Given the description of an element on the screen output the (x, y) to click on. 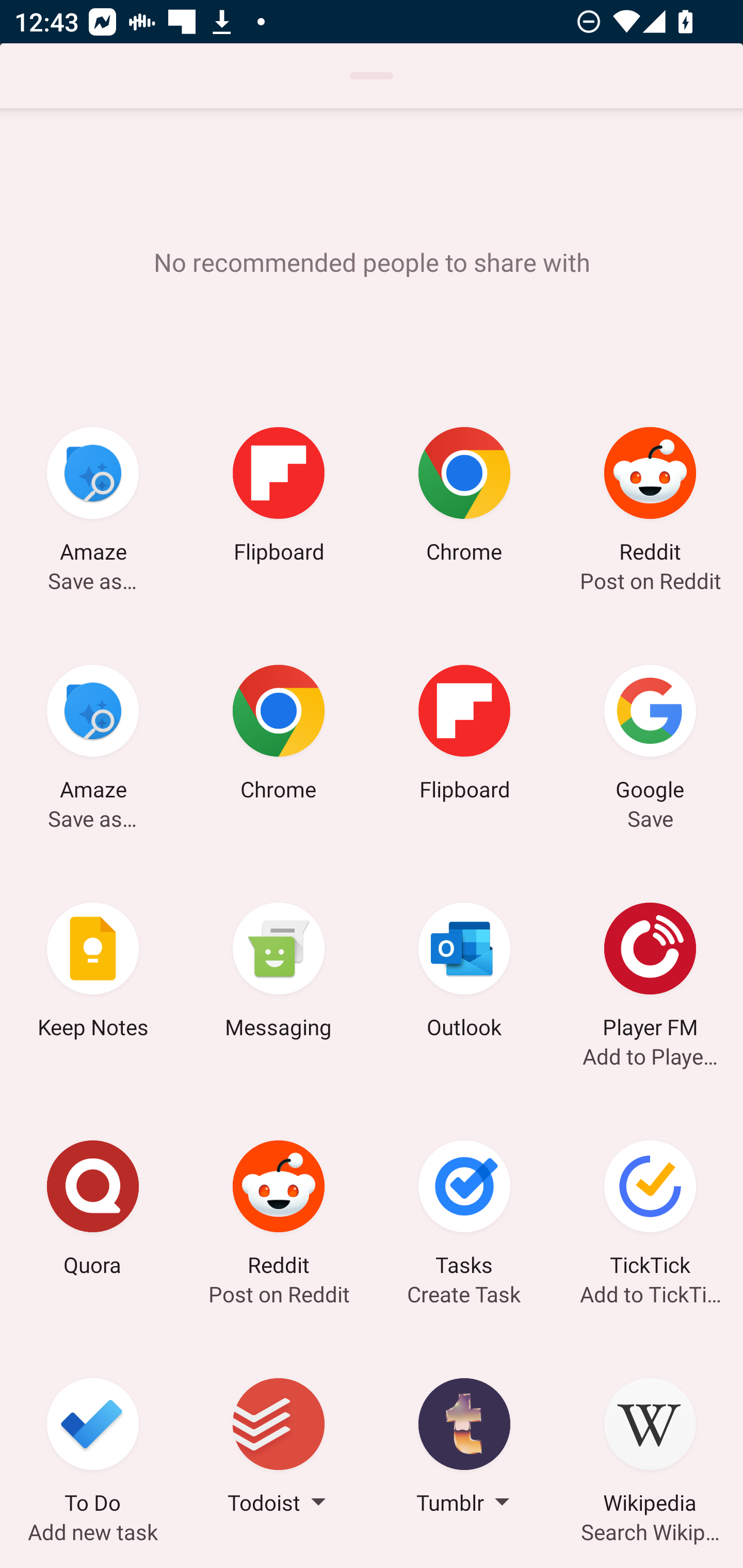
Amaze Save as… (92, 497)
Flipboard (278, 497)
Chrome (464, 497)
Reddit Post on Reddit (650, 497)
Amaze Save as… (92, 735)
Chrome (278, 735)
Flipboard (464, 735)
Google Save (650, 735)
Keep Notes (92, 973)
Messaging (278, 973)
Outlook (464, 973)
Player FM Add to Player FM (650, 973)
Quora (92, 1210)
Reddit Post on Reddit (278, 1210)
Tasks Create Task (464, 1210)
TickTick Add to TickTick (650, 1210)
To Do Add new task (92, 1448)
Todoist (278, 1448)
Tumblr (464, 1448)
Wikipedia Search Wikipedia (650, 1448)
